Given the description of an element on the screen output the (x, y) to click on. 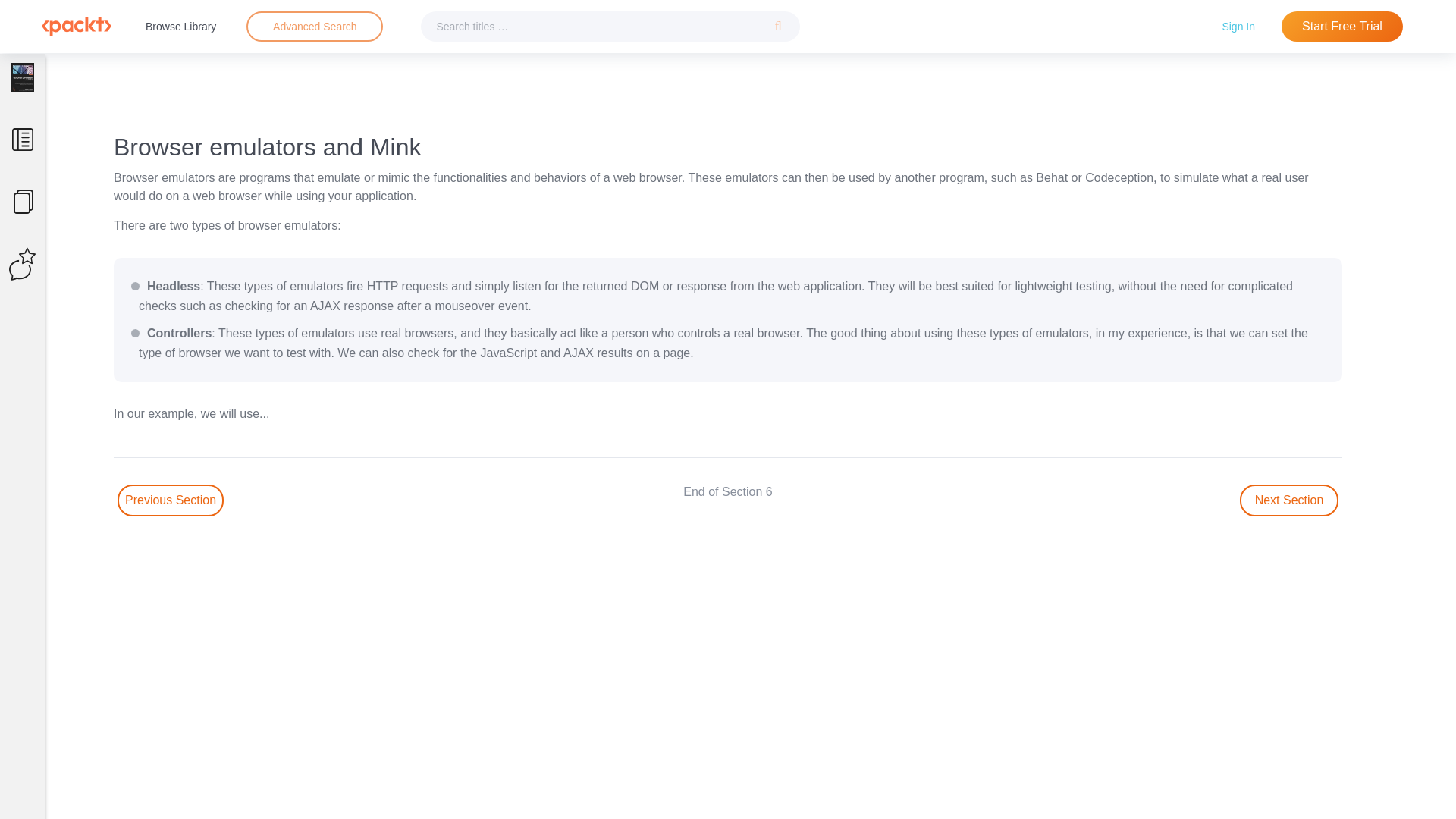
Advanced Search (315, 26)
Advanced search (314, 26)
Start Free Trial (1342, 26)
Go to next section (1289, 500)
Advanced Search (314, 26)
Go to Previous section (170, 500)
Browse Library (180, 26)
Sign In (1238, 26)
